Given the description of an element on the screen output the (x, y) to click on. 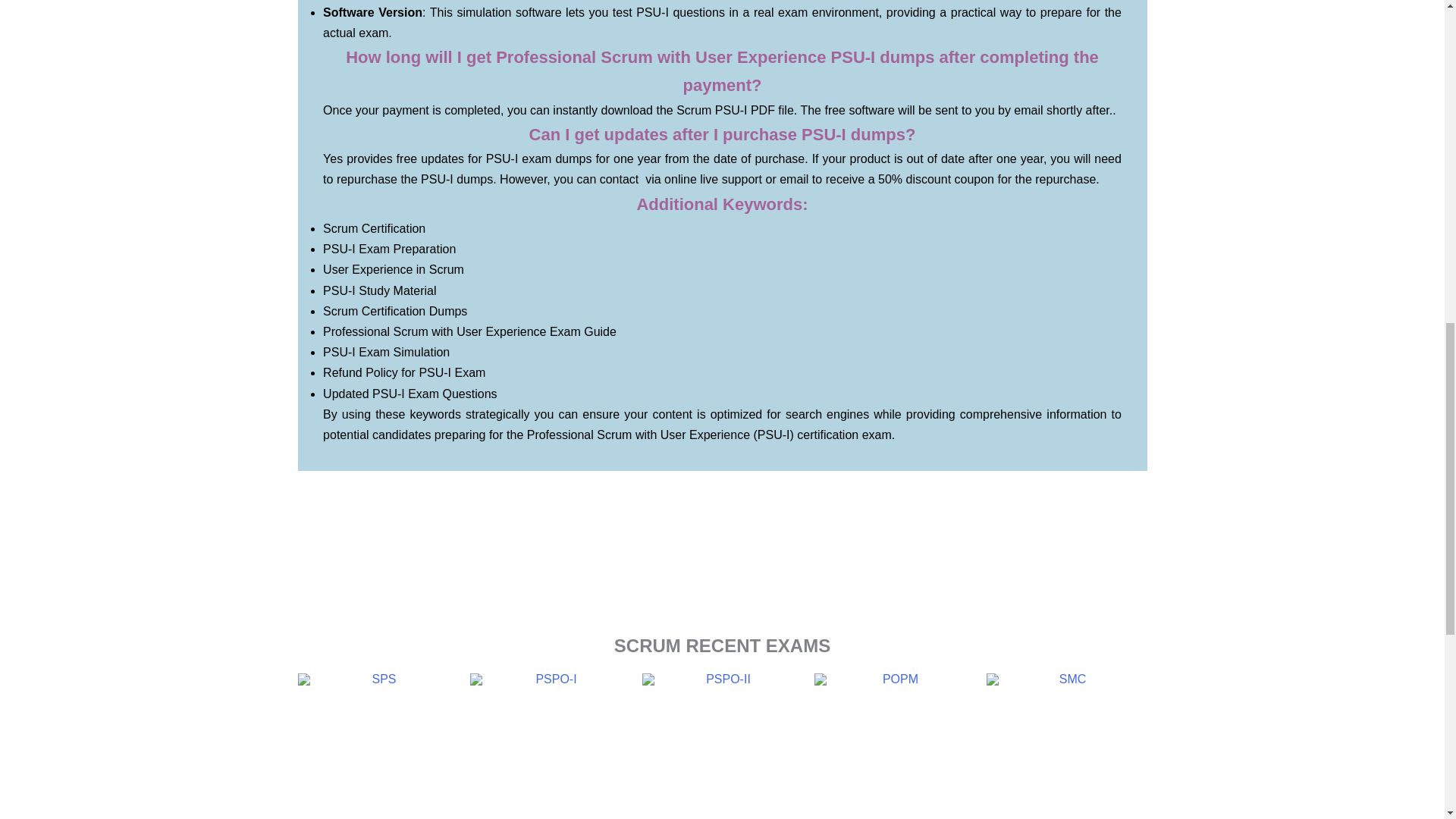
Professional Scrum Product Owner I (550, 746)
SPS (377, 746)
Professional Scrum Product Owner II (722, 746)
